Given the description of an element on the screen output the (x, y) to click on. 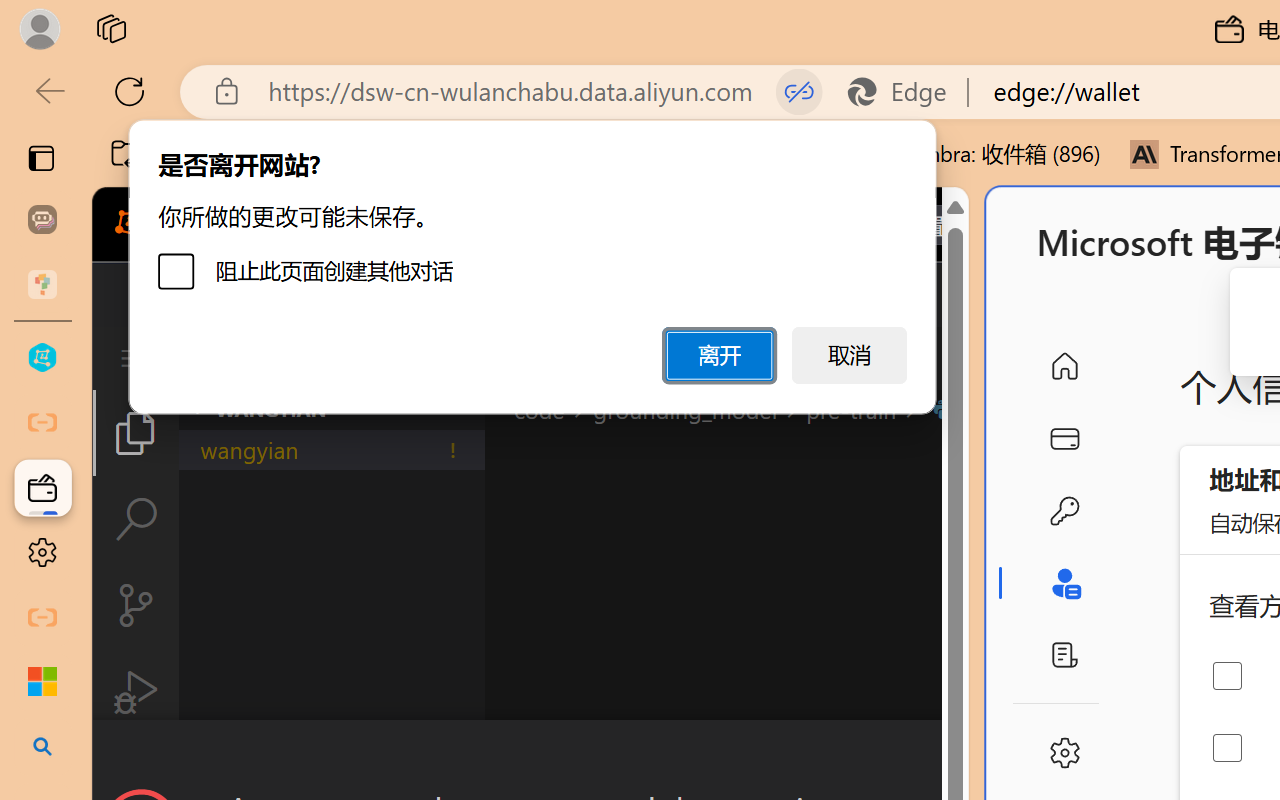
Run and Debug (Ctrl+Shift+D) (135, 692)
Microsoft security help and learning (42, 681)
Close Dialog (959, 756)
